Given the description of an element on the screen output the (x, y) to click on. 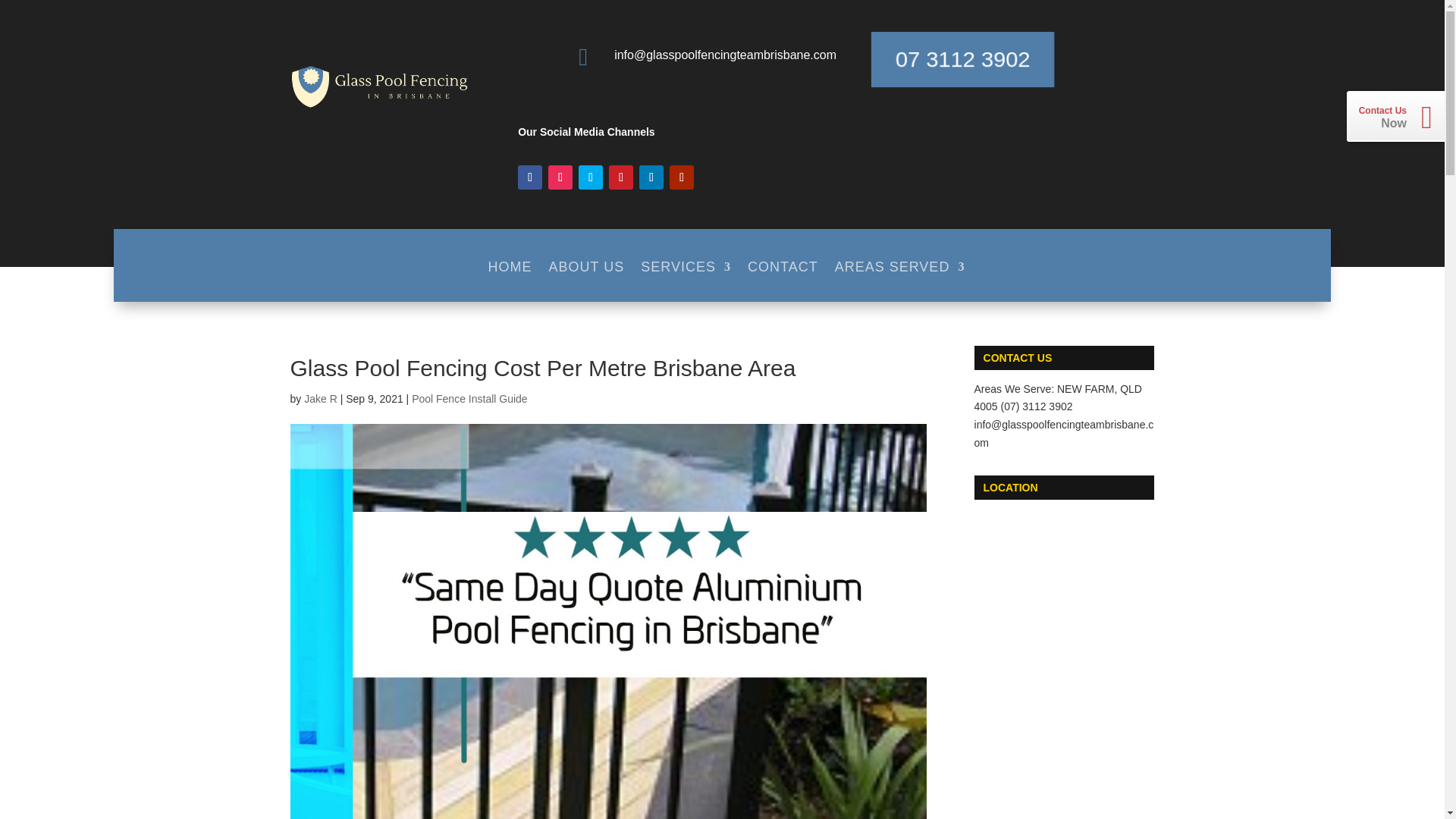
Follow on Instagram (560, 177)
Follow on Pinterest (620, 177)
Follow on Facebook (529, 177)
Follow on LinkedIn (651, 177)
Follow on Twitter (590, 177)
Posts by Jake R (320, 398)
Follow on Youtube (681, 177)
